Given the description of an element on the screen output the (x, y) to click on. 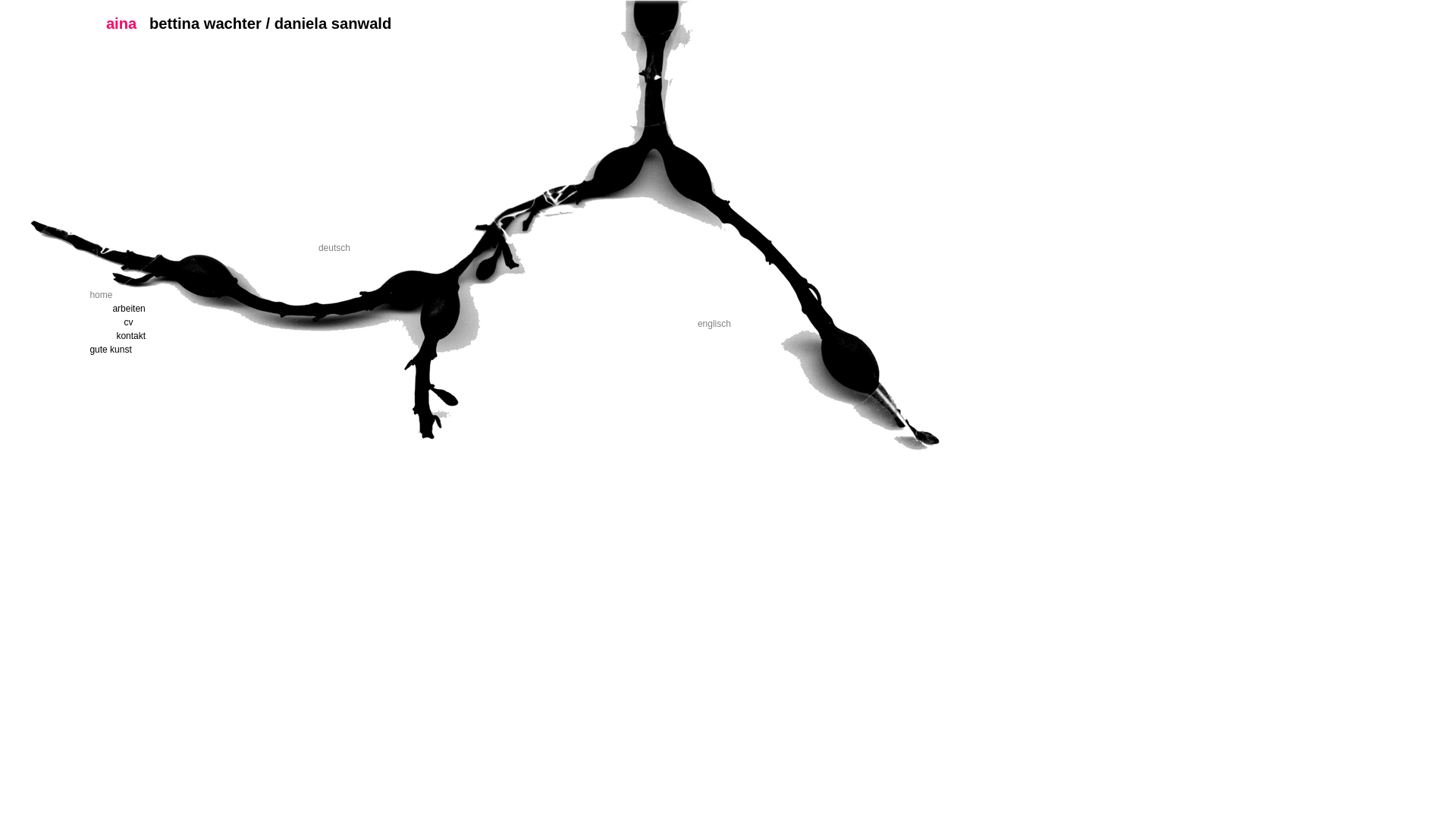
englisch Element type: text (714, 323)
gute kunst Element type: text (158, 349)
kontakt Element type: text (184, 335)
cv Element type: text (192, 322)
deutsch Element type: text (334, 247)
arbeiten Element type: text (180, 308)
